Given the description of an element on the screen output the (x, y) to click on. 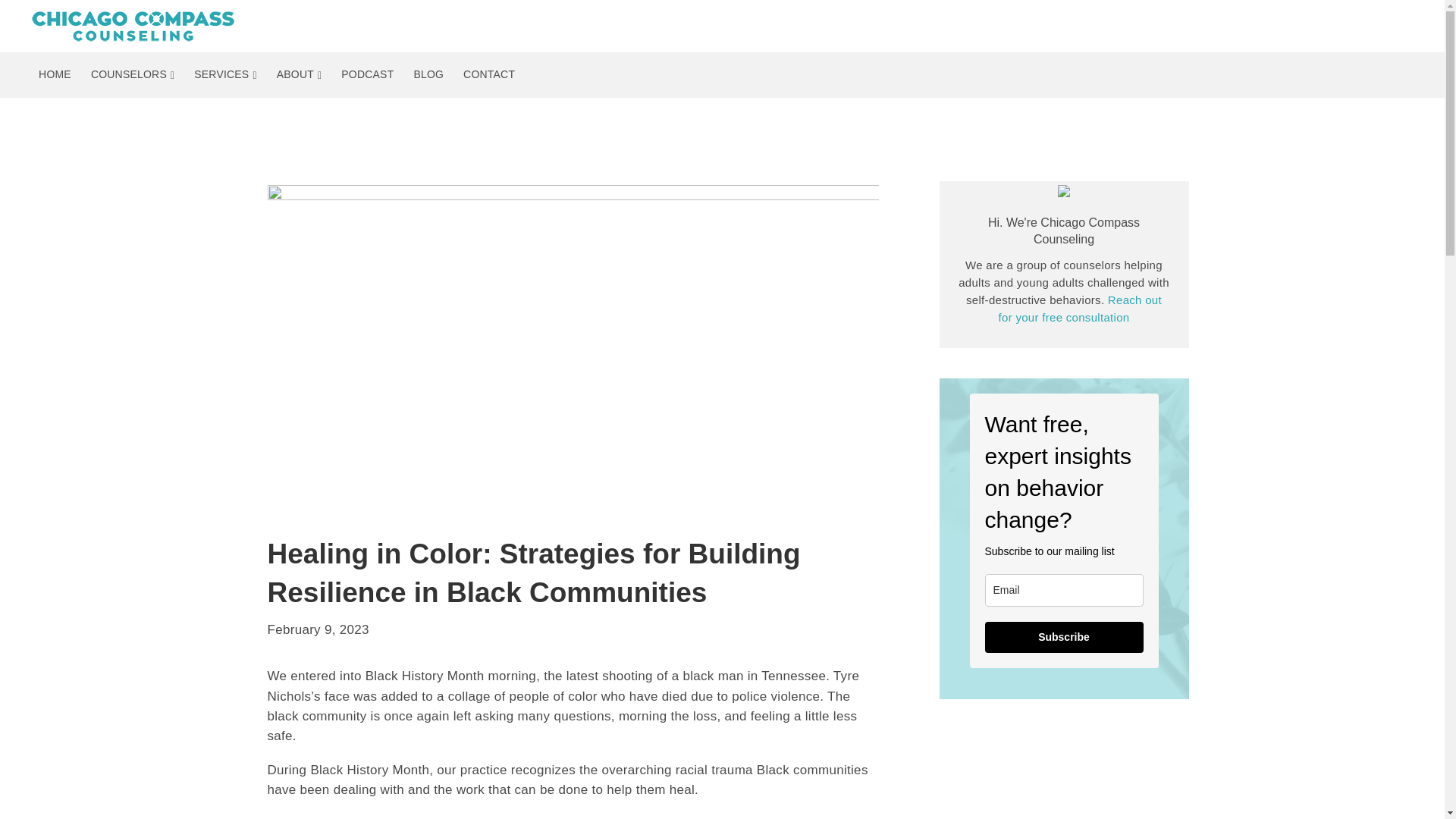
ABOUT (298, 74)
SERVICES (225, 74)
HOME (55, 74)
COUNSELORS (132, 74)
